Given the description of an element on the screen output the (x, y) to click on. 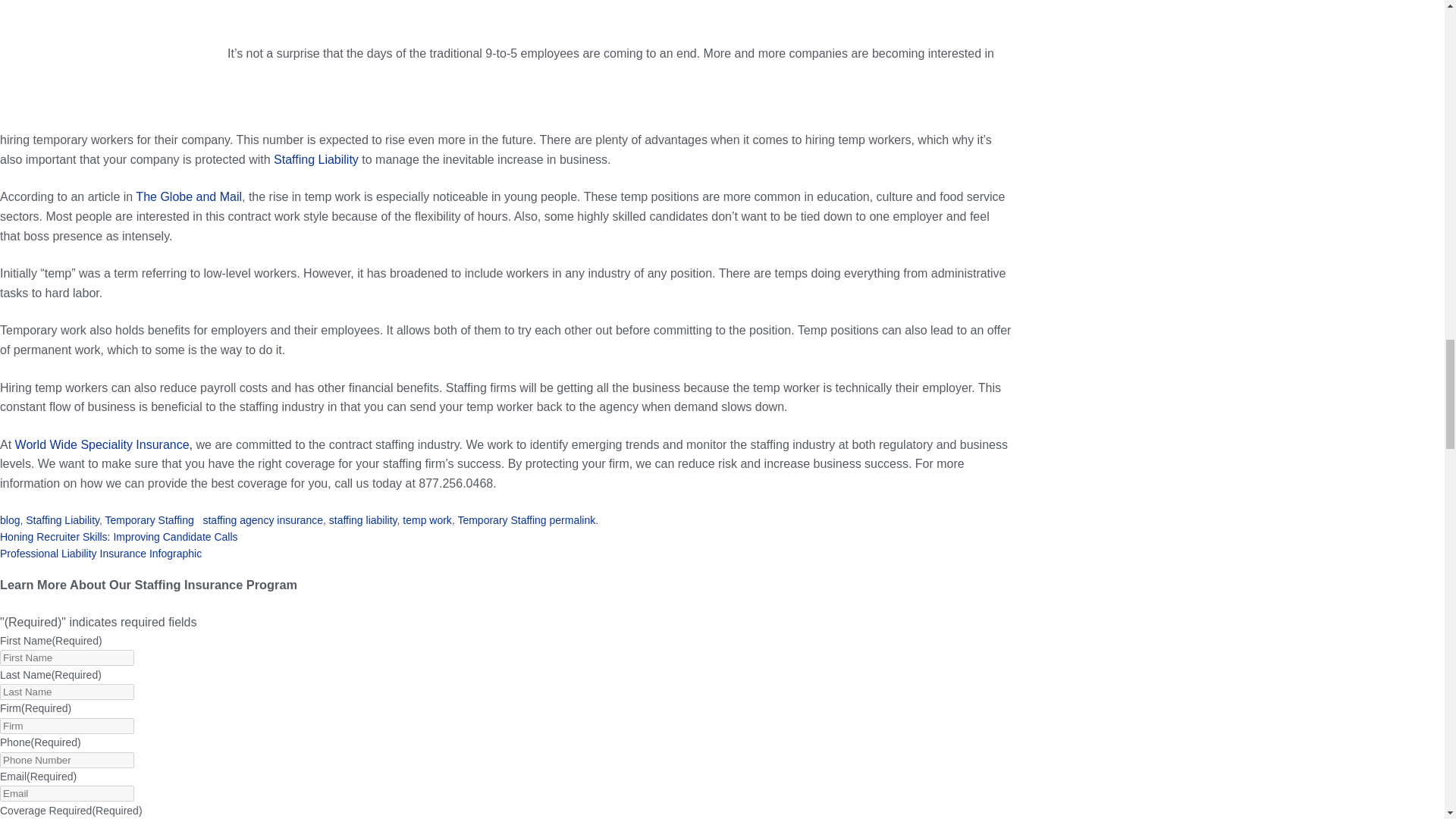
Staffing Liability (62, 520)
World Wide Speciality Insurance, (103, 444)
The Globe and Mail (188, 196)
staffing liability (363, 520)
Temporary Staffing (501, 520)
Staffing Liability (315, 159)
staffing agency insurance (262, 520)
temp work (427, 520)
permalink (572, 520)
Temporary Staffing (148, 520)
blog (10, 520)
